Given the description of an element on the screen output the (x, y) to click on. 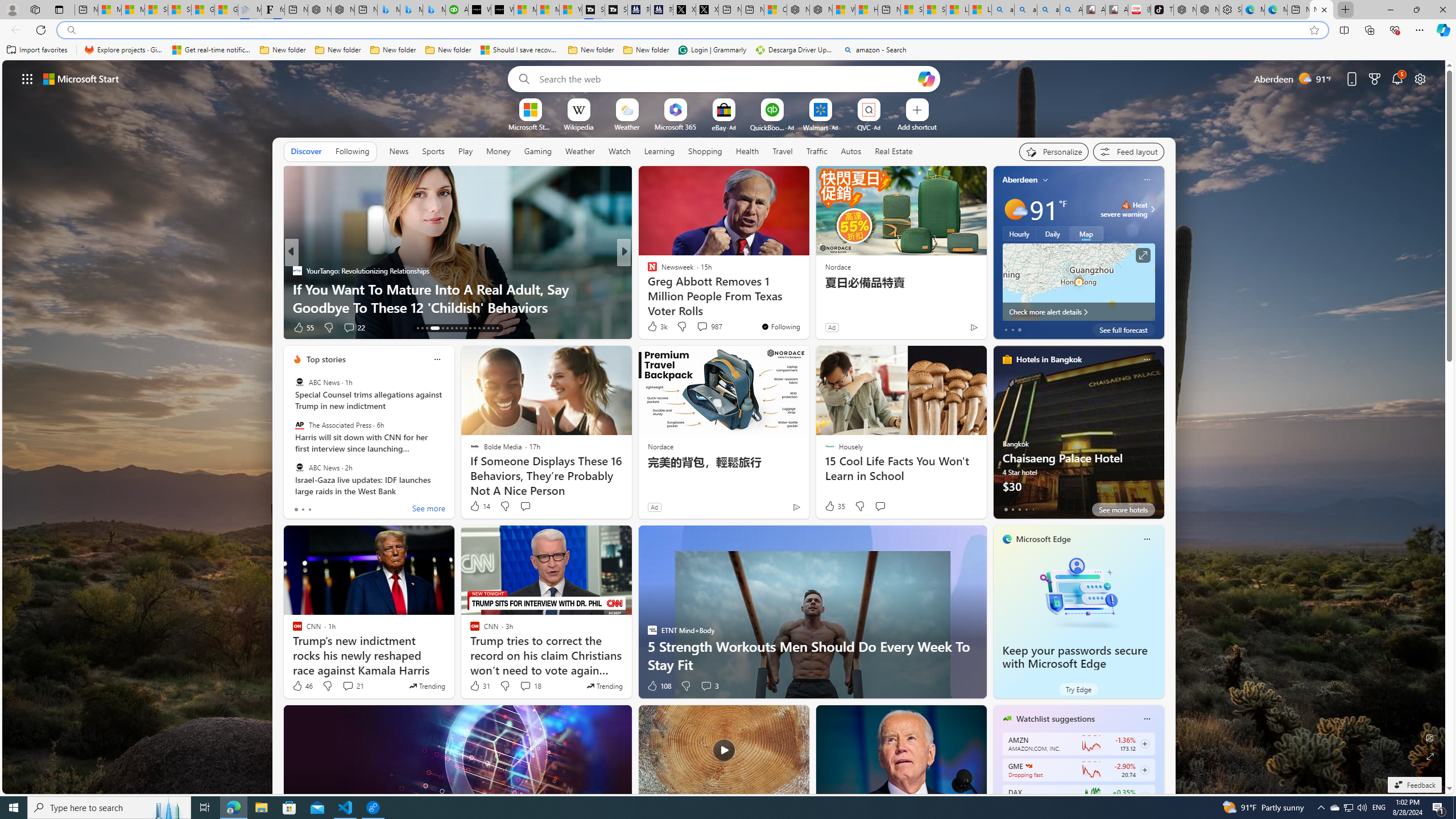
AutomationID: backgroundImagePicture (723, 426)
View comments 1 Comment (698, 327)
The Weather Channel (647, 270)
Class: control (27, 78)
tab-4 (1032, 509)
AutomationID: tab-20 (456, 328)
Wikipedia (578, 126)
